Given the description of an element on the screen output the (x, y) to click on. 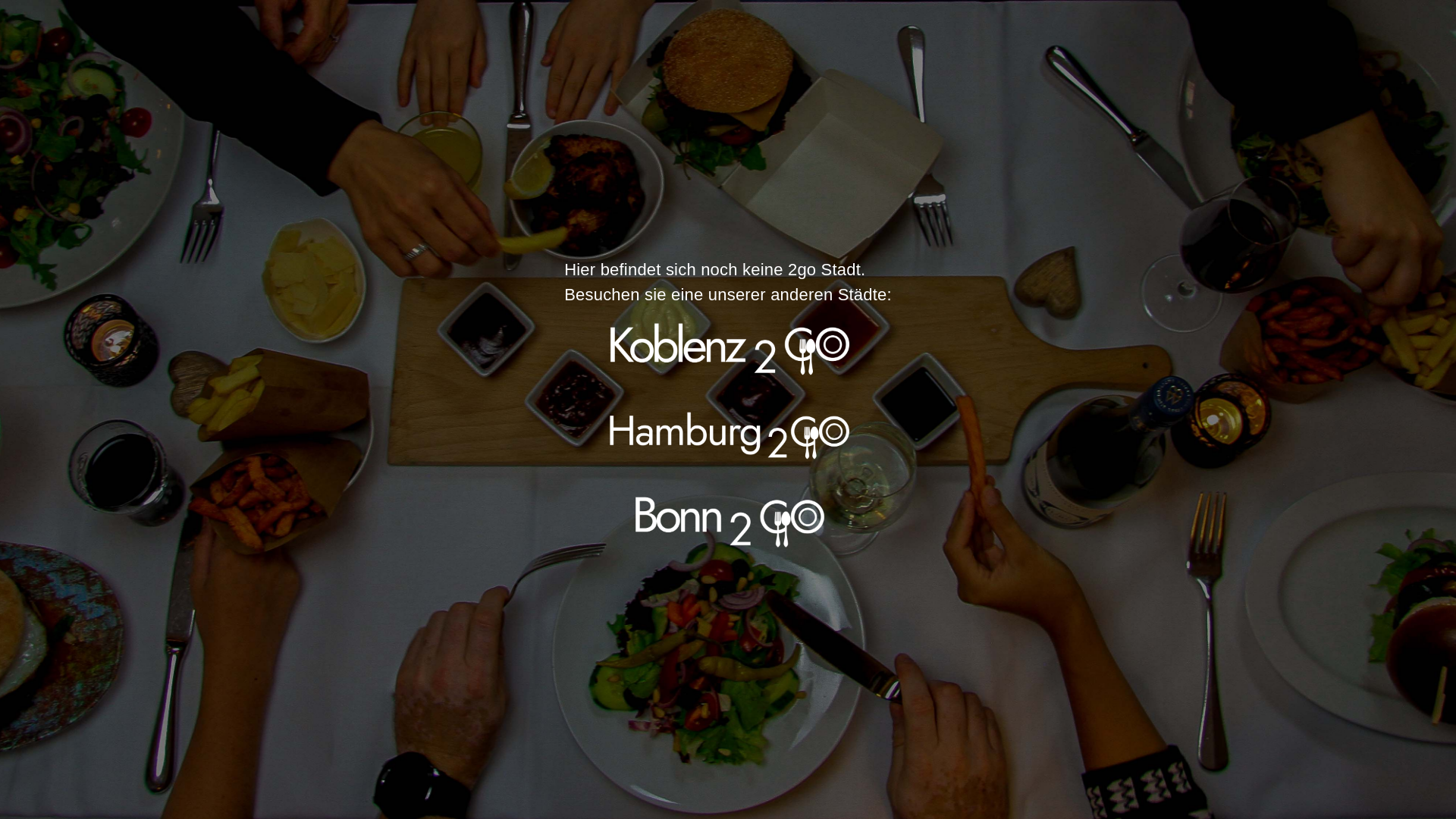
Hamburg2go Element type: hover (727, 434)
Koblenz2go Element type: hover (727, 349)
Bonn2go Element type: hover (727, 519)
